Given the description of an element on the screen output the (x, y) to click on. 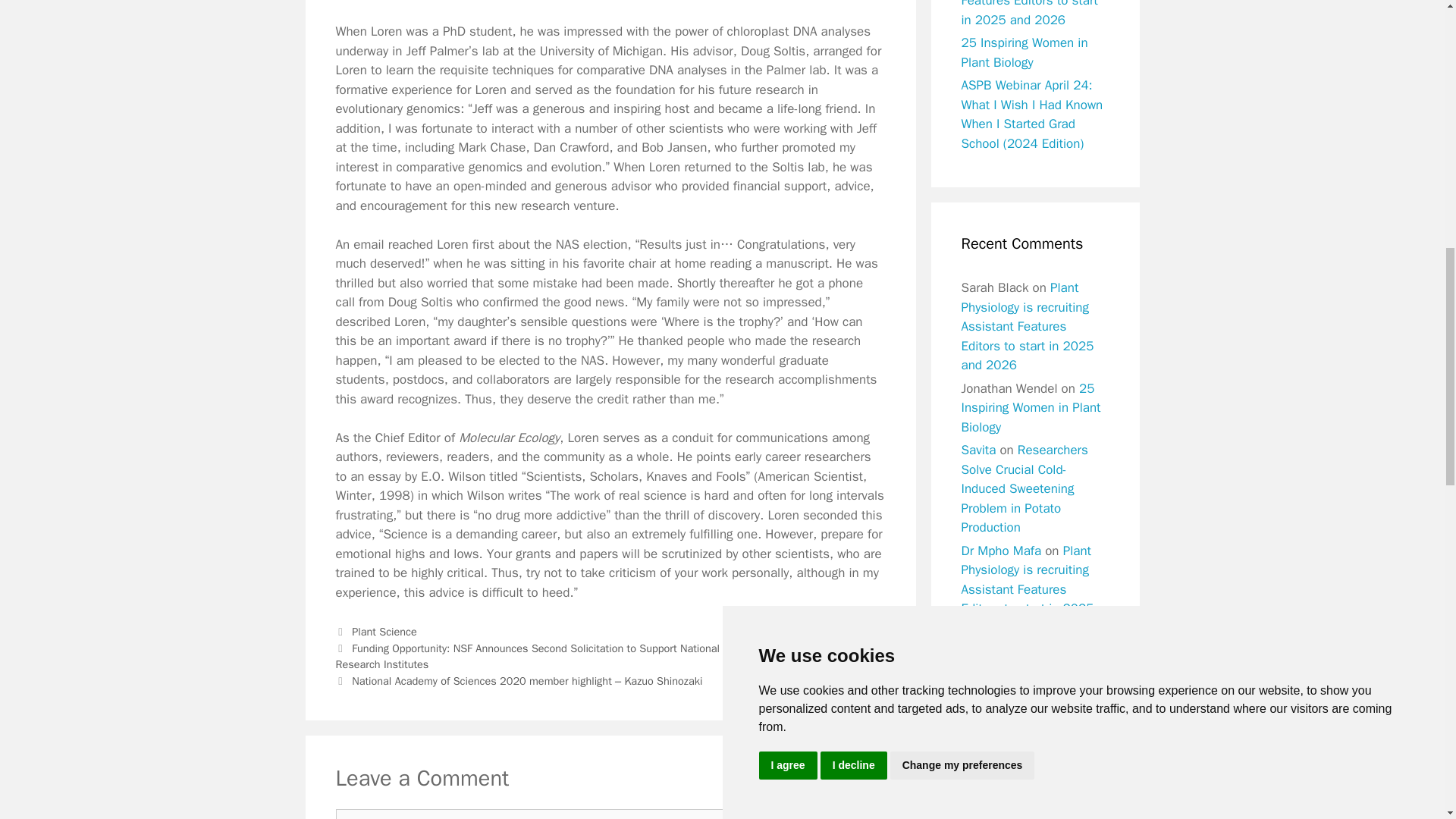
25 Inspiring Women in Plant Biology (1023, 52)
Plant Science (384, 631)
25 Inspiring Women in Plant Biology (1030, 407)
Dr Mpho Mafa (1001, 550)
25 Inspiring Women in Plant Biology (1030, 669)
Savita (977, 449)
